Given the description of an element on the screen output the (x, y) to click on. 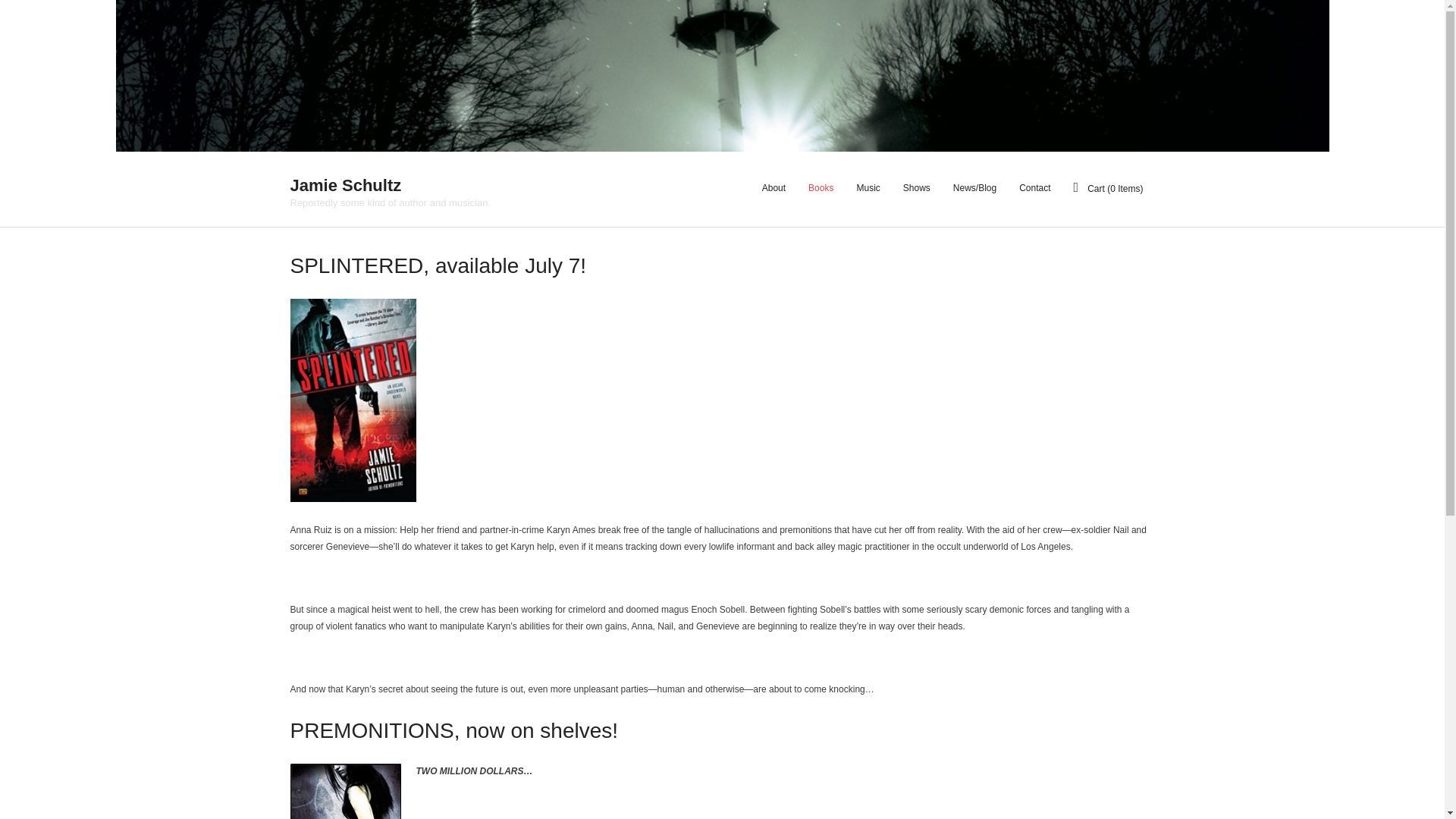
Jamie Schultz (389, 186)
Start shopping (1108, 188)
Reportedly some kind of author and musician. (389, 191)
